Given the description of an element on the screen output the (x, y) to click on. 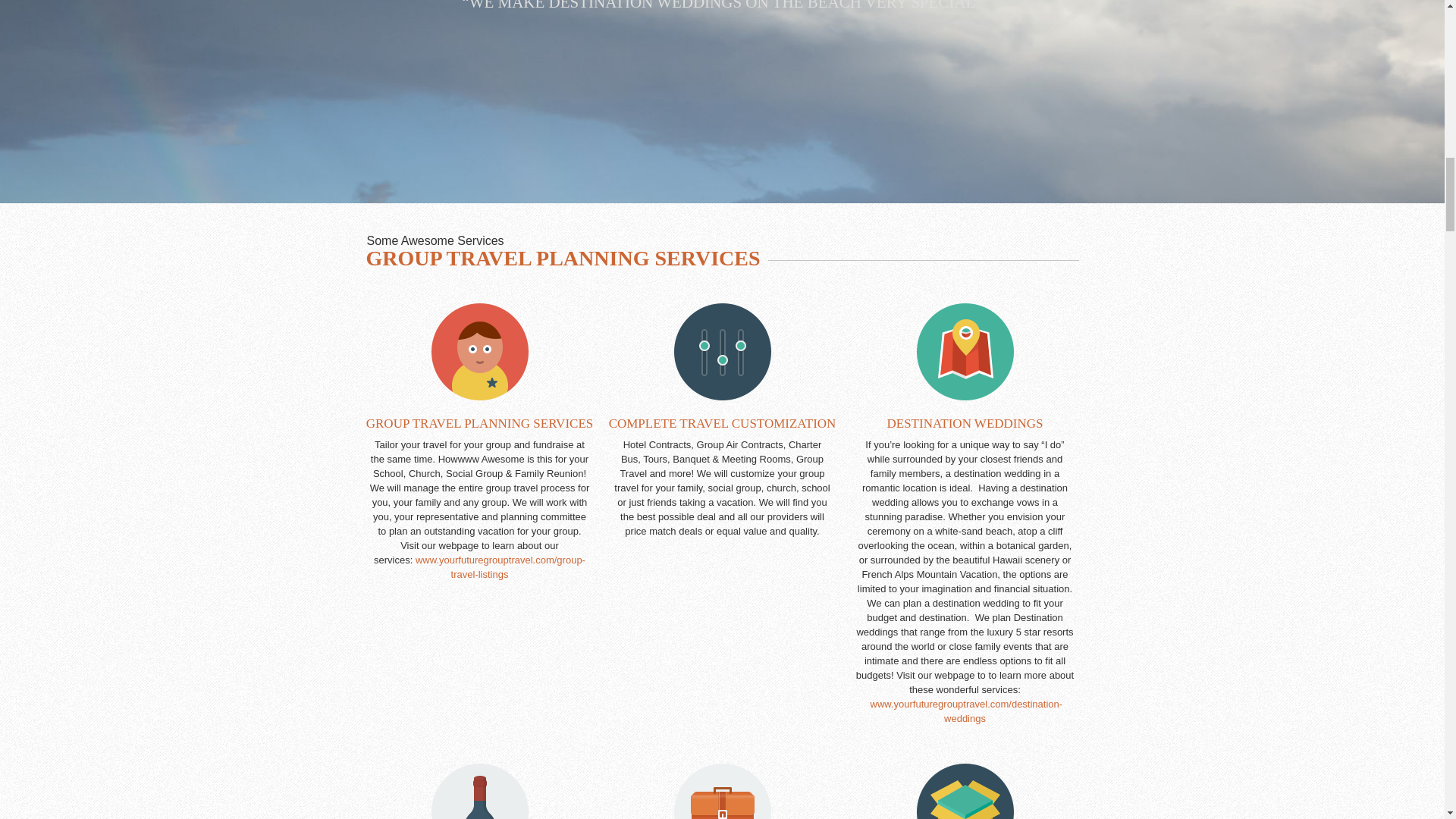
Group Travel Planning Services. (499, 566)
